Given the description of an element on the screen output the (x, y) to click on. 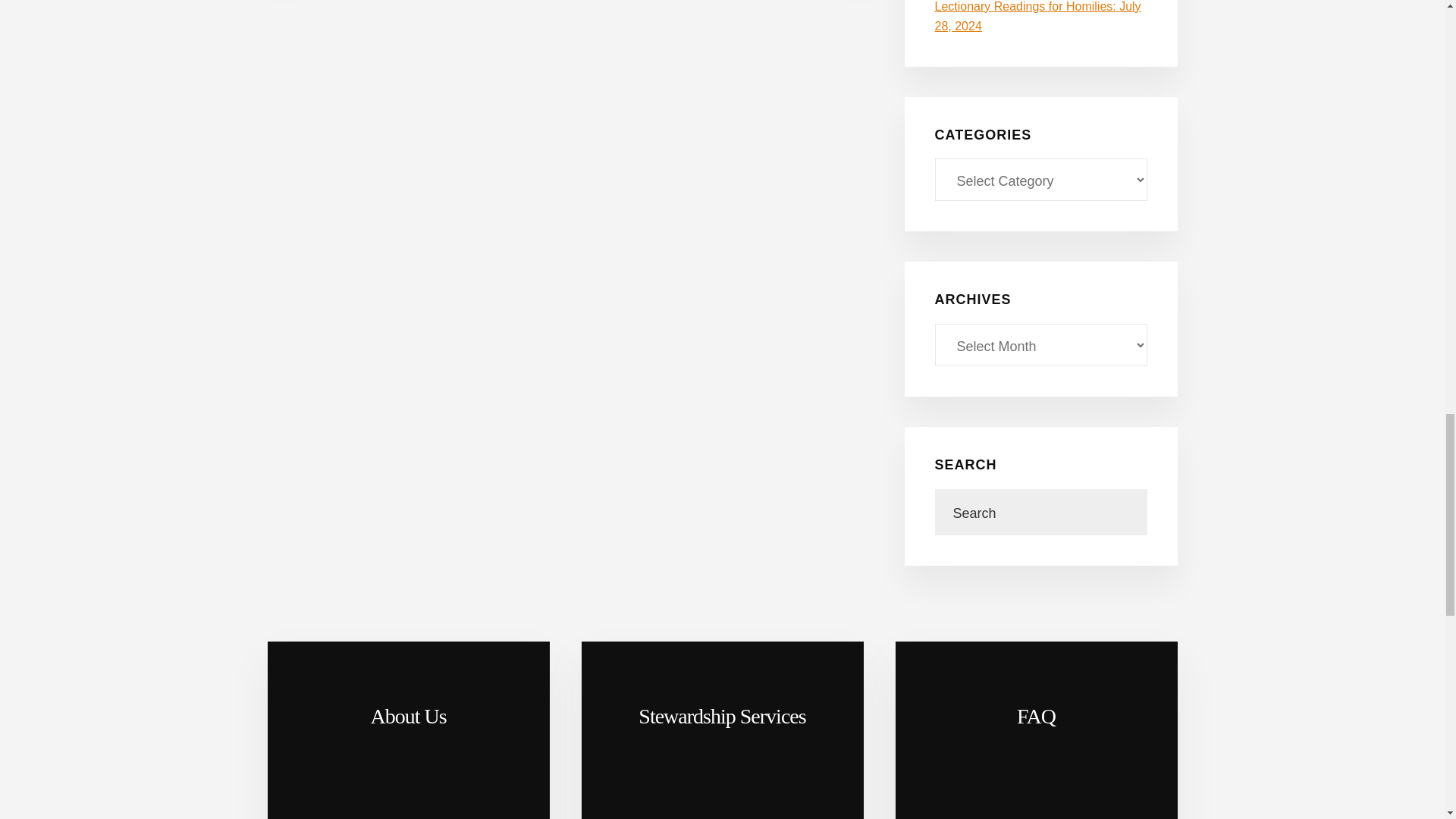
About Us (407, 730)
Stewardship Services (721, 730)
FAQ (1035, 730)
